Given the description of an element on the screen output the (x, y) to click on. 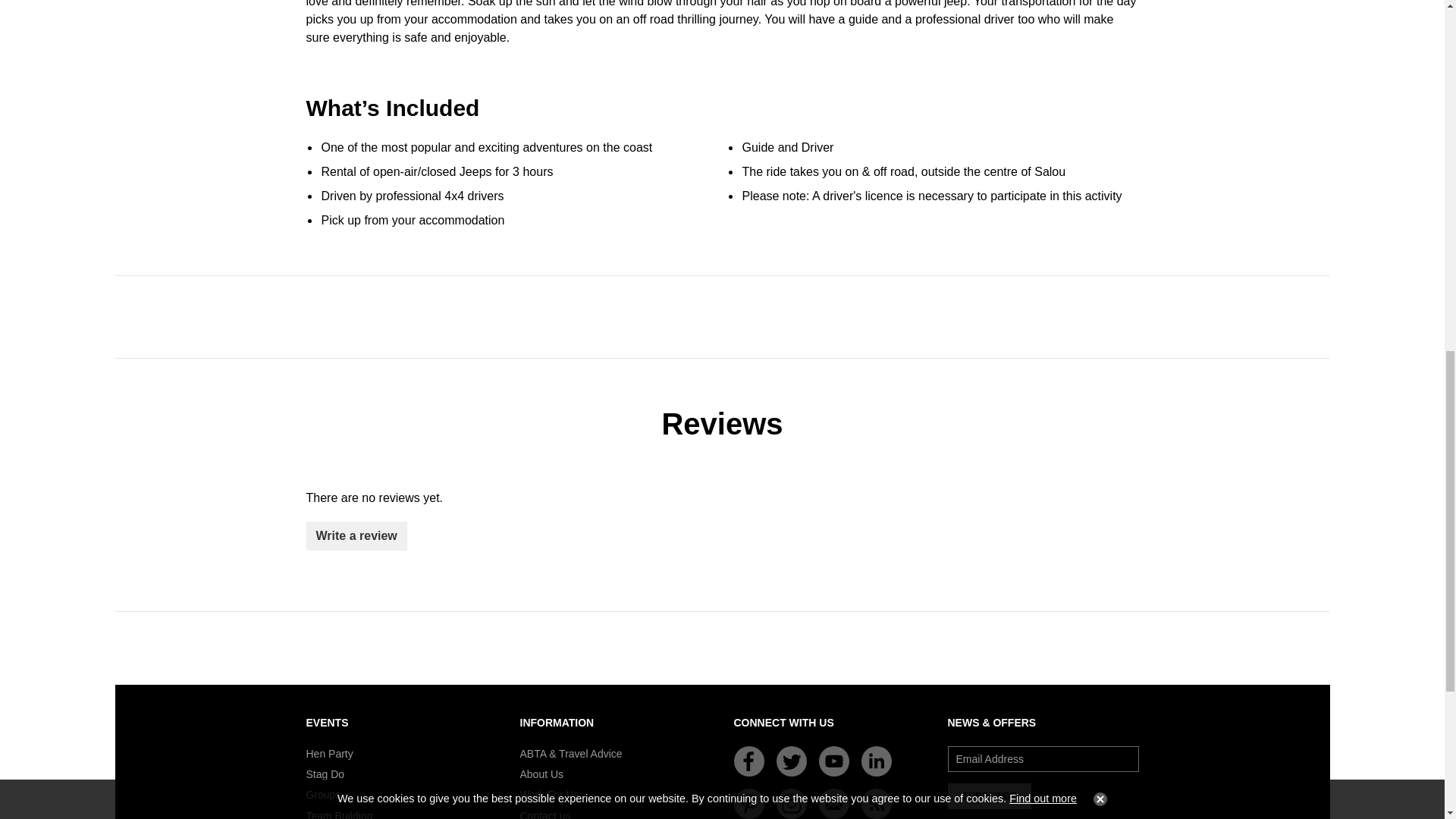
Subscribe (989, 795)
